Given the description of an element on the screen output the (x, y) to click on. 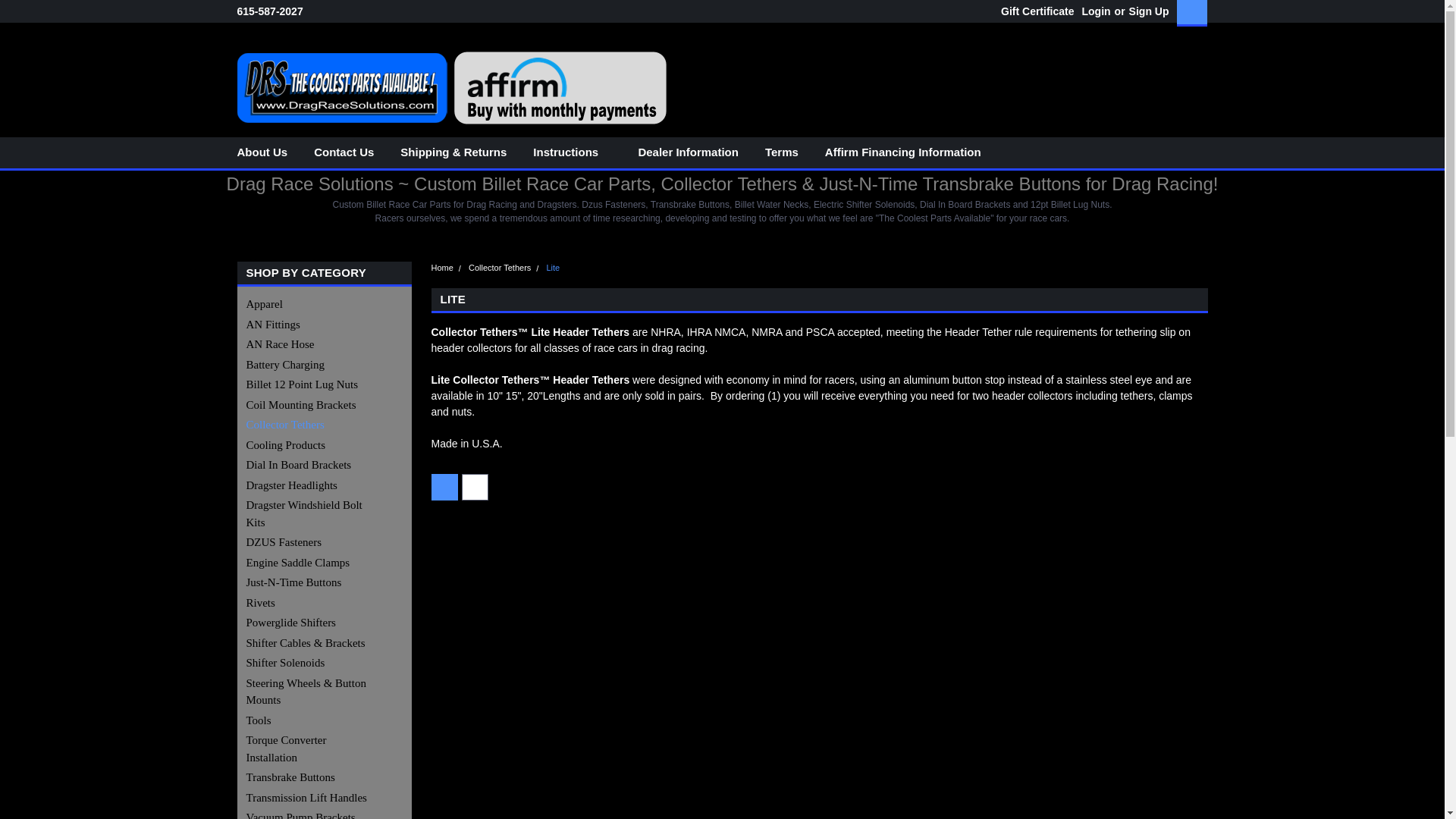
Gift Certificate (1033, 11)
Drag Race Solutions (450, 87)
Sign Up (1147, 11)
Login (1095, 11)
